Given the description of an element on the screen output the (x, y) to click on. 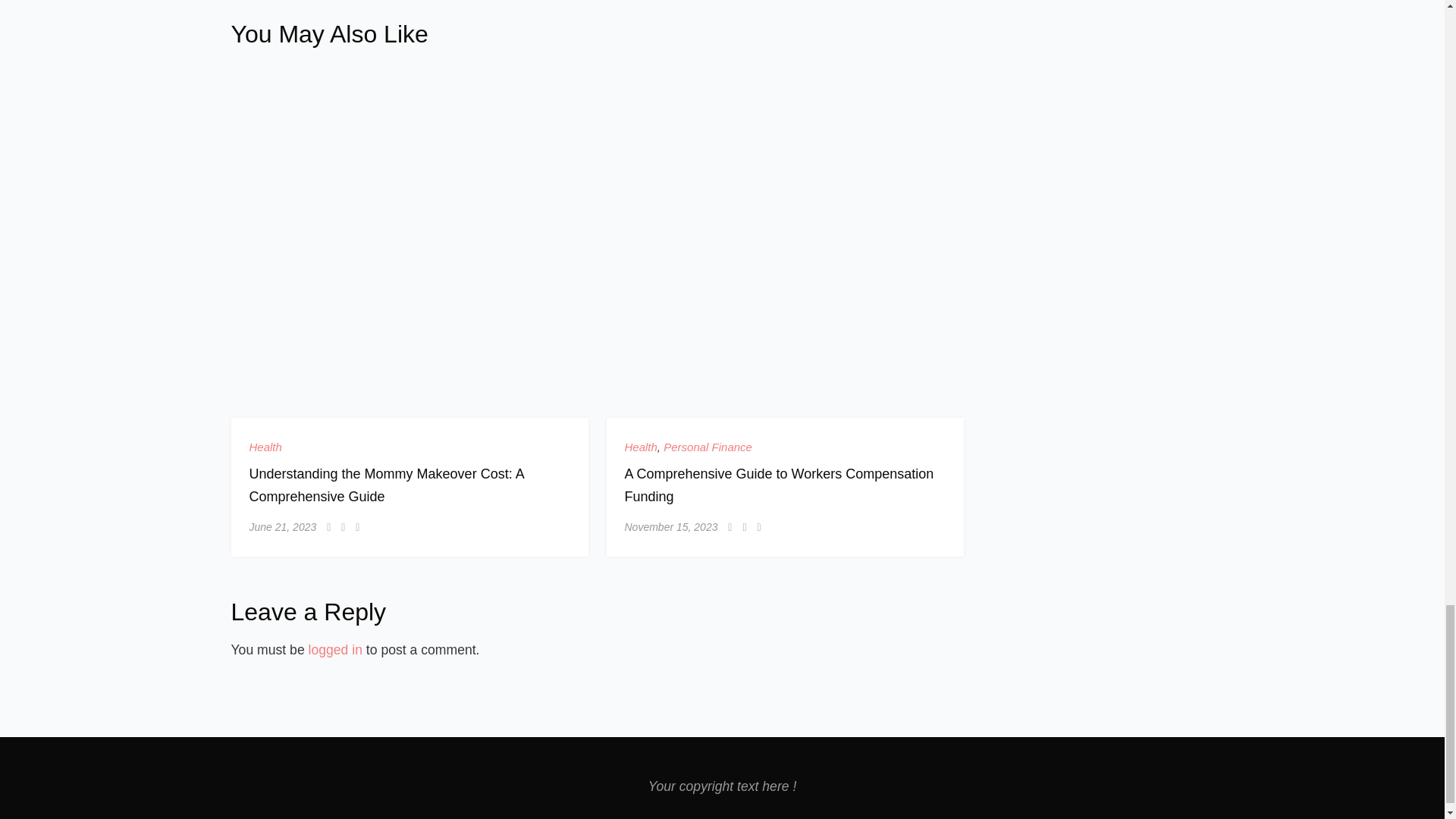
A Comprehensive Guide to Workers Compensation Funding (779, 485)
Health (641, 446)
Understanding the Mommy Makeover Cost: A Comprehensive Guide (385, 485)
logged in (335, 649)
Personal Finance (707, 446)
June 21, 2023 (281, 526)
Health (264, 446)
November 15, 2023 (670, 526)
